Given the description of an element on the screen output the (x, y) to click on. 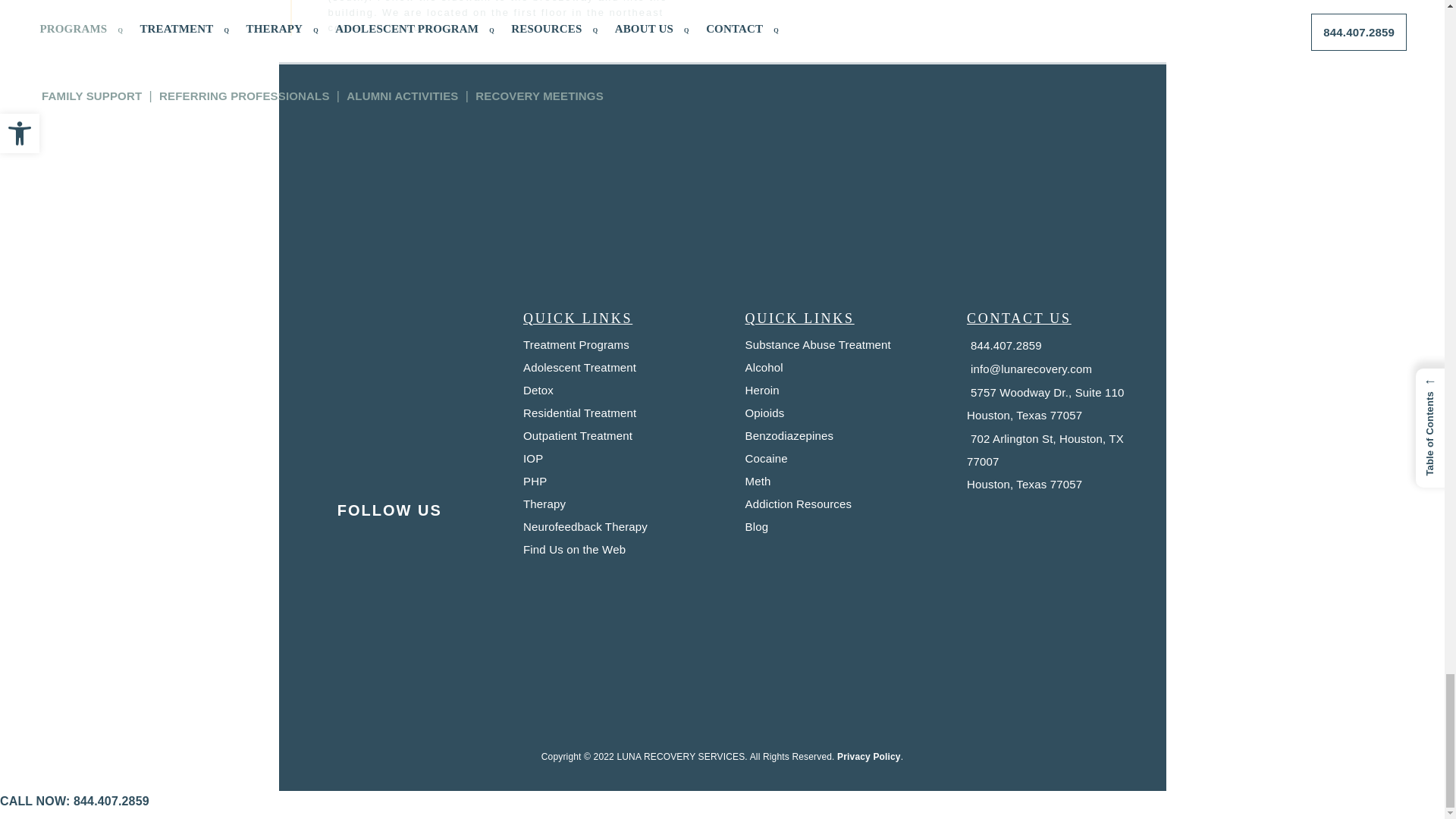
LUNA Recovery on Linkedin (435, 552)
LUNA Recovery on Facebook (343, 552)
LUNA Recovery (389, 374)
LUNA Recovery on Instagram (389, 552)
